Given the description of an element on the screen output the (x, y) to click on. 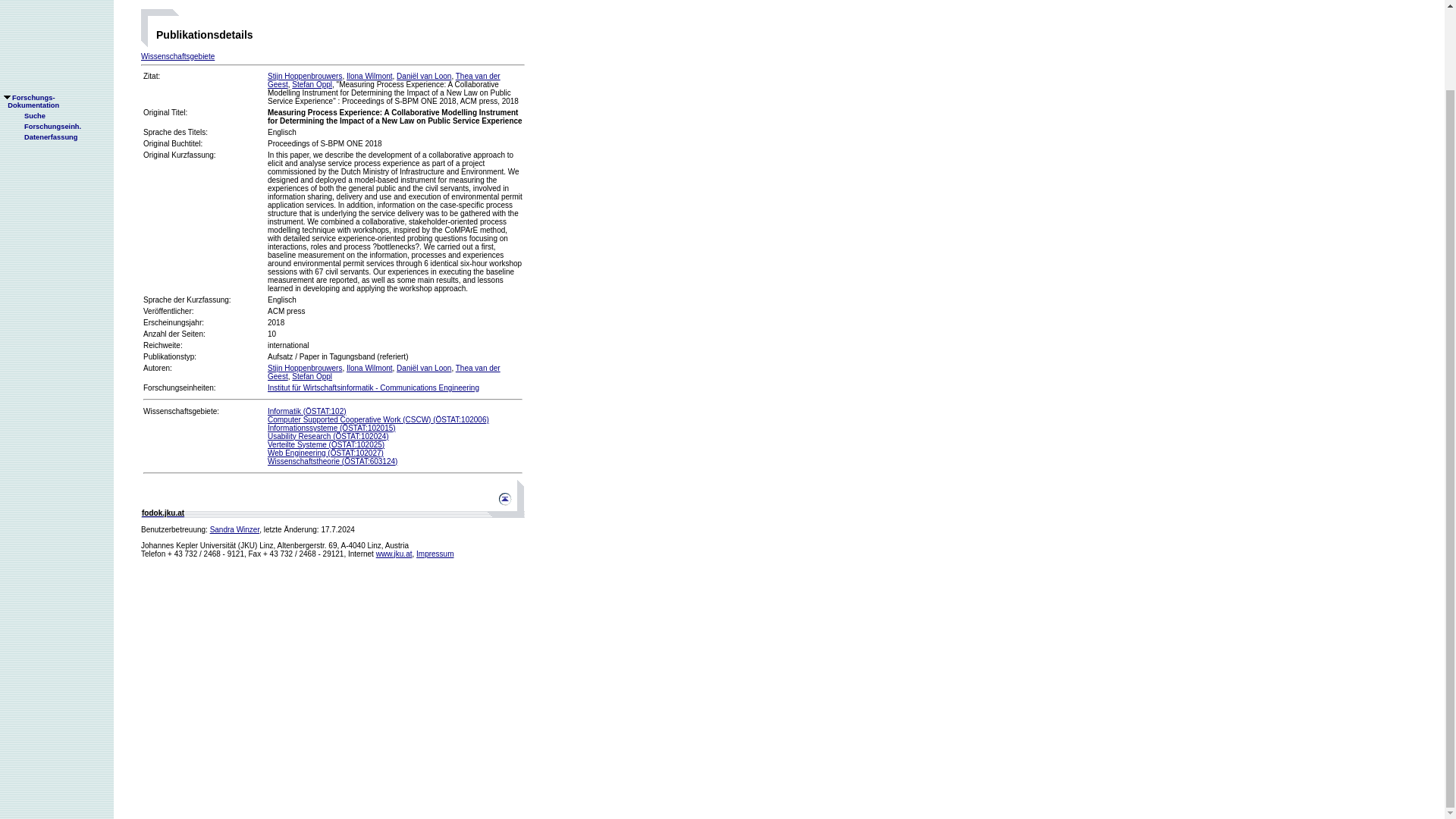
Wissenschaftsgebiete: (180, 411)
Stefan Oppl (29, 11)
Ilona Wilmont (311, 84)
Stijn Hoppenbrouwers (369, 76)
Impressum (304, 76)
Datenerfassung (434, 553)
Sandra Winzer (44, 46)
Stefan Oppl (234, 529)
fodok.jku.at (311, 376)
www.jku.at (162, 512)
Ilona Wilmont (393, 553)
Wissenschaftsgebiete (369, 367)
Suche (177, 56)
Thea van der Geest (28, 25)
